Given the description of an element on the screen output the (x, y) to click on. 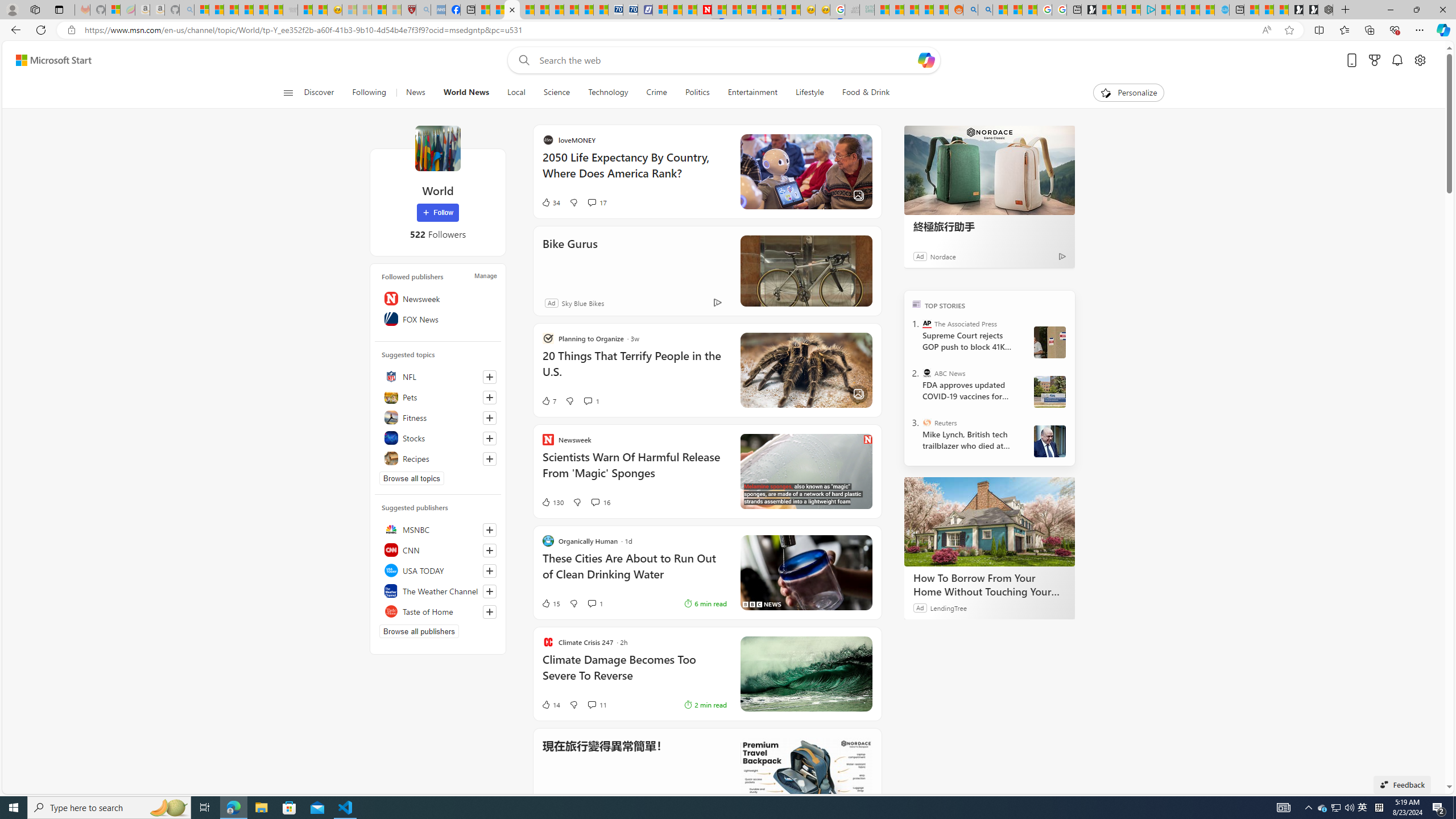
These Cities Are About to Run Out of Clean Drinking Water (633, 572)
NFL (437, 376)
Follow this topic (489, 458)
USA TODAY (437, 570)
Pets (437, 397)
MSNBC (437, 529)
